Given the description of an element on the screen output the (x, y) to click on. 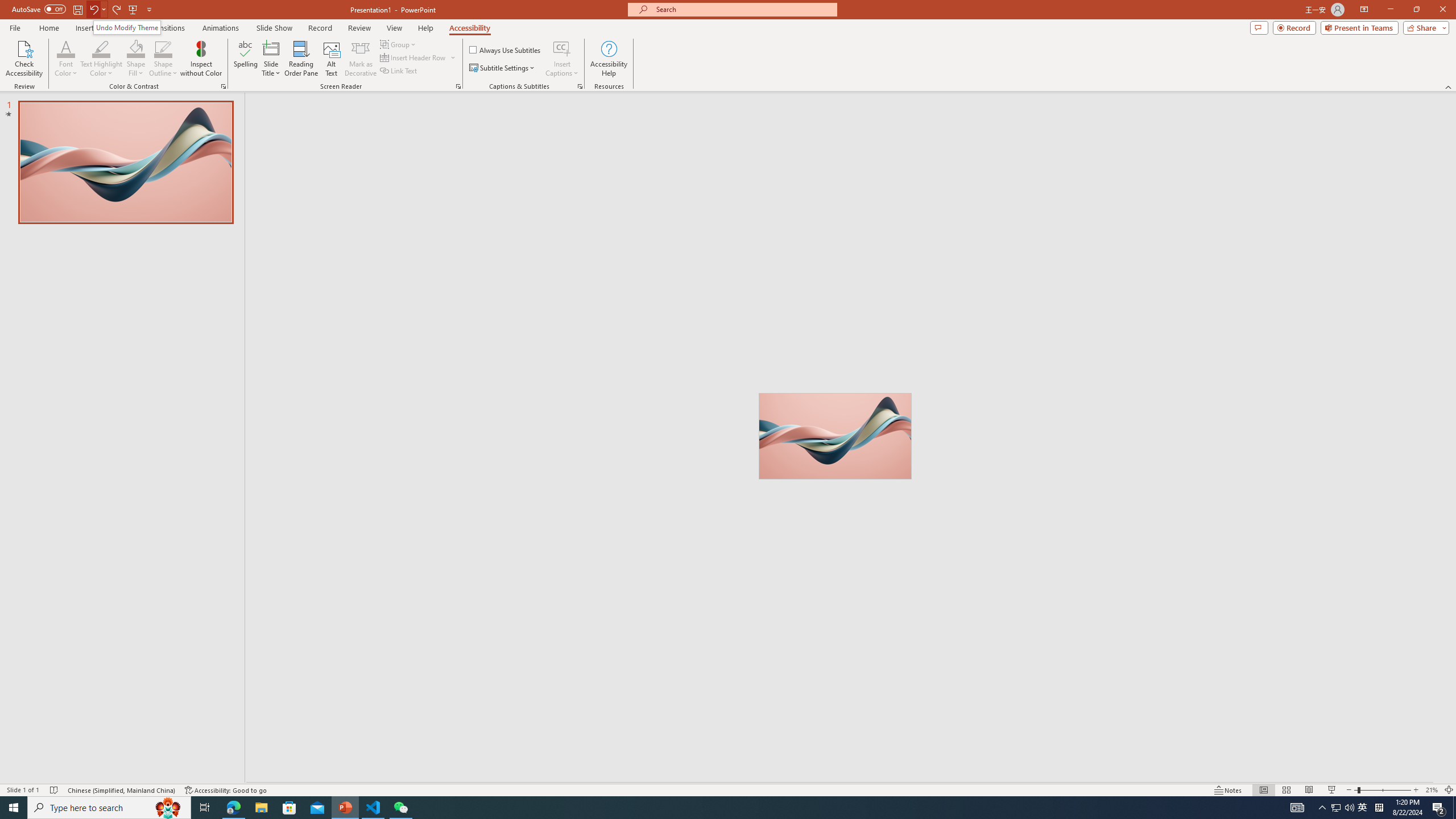
Slide Title (271, 58)
Link Text (399, 69)
Insert Header Row (418, 56)
Reading Order Pane (301, 58)
